Given the description of an element on the screen output the (x, y) to click on. 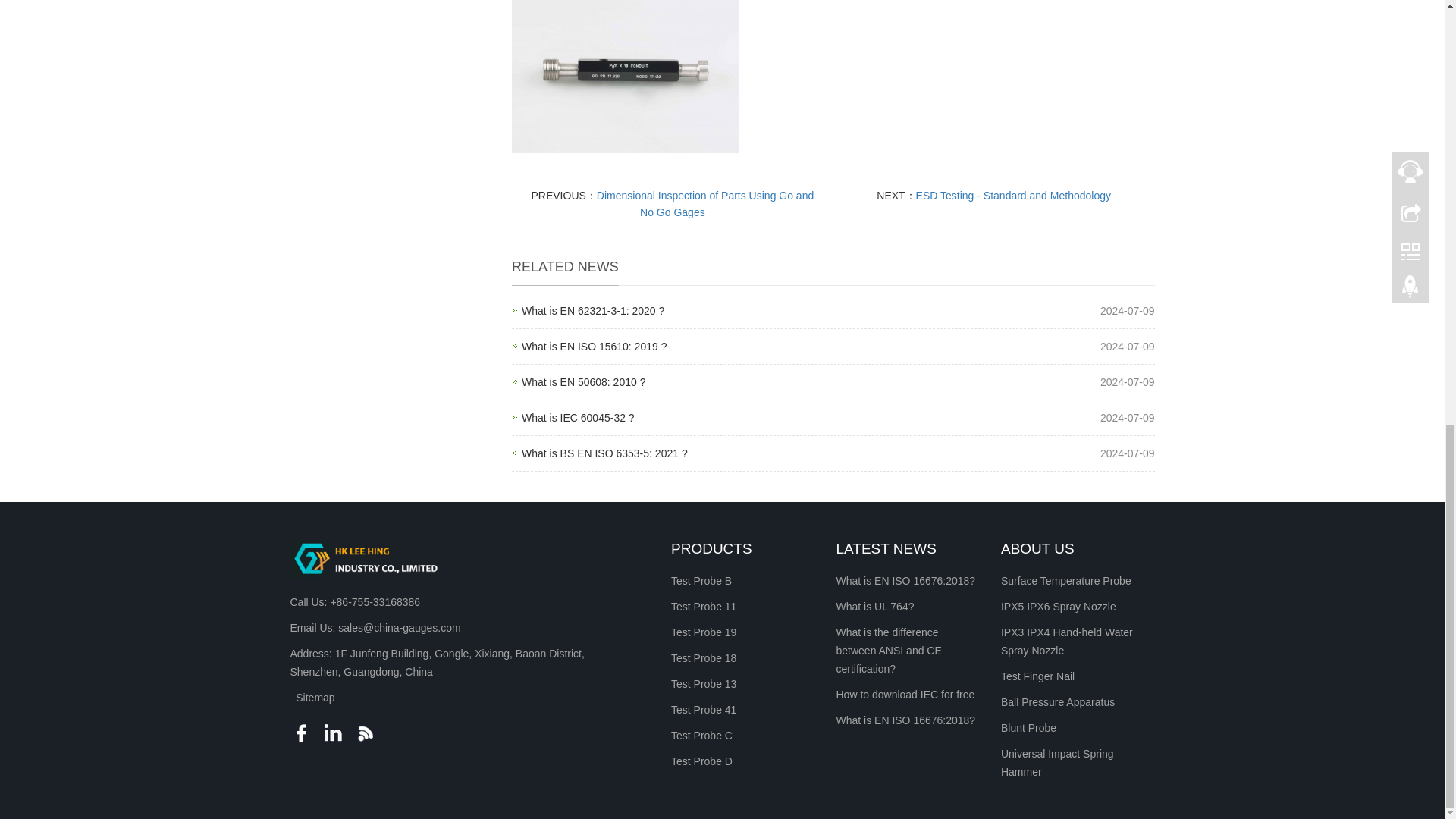
ESD Testing - Standard and Methodology (1012, 195)
What is EN 62321-3-1: 2020 ? (577, 417)
DIN 40431 (592, 310)
Dimensional Inspection of Parts Using Go and No Go Gages (604, 453)
